Given the description of an element on the screen output the (x, y) to click on. 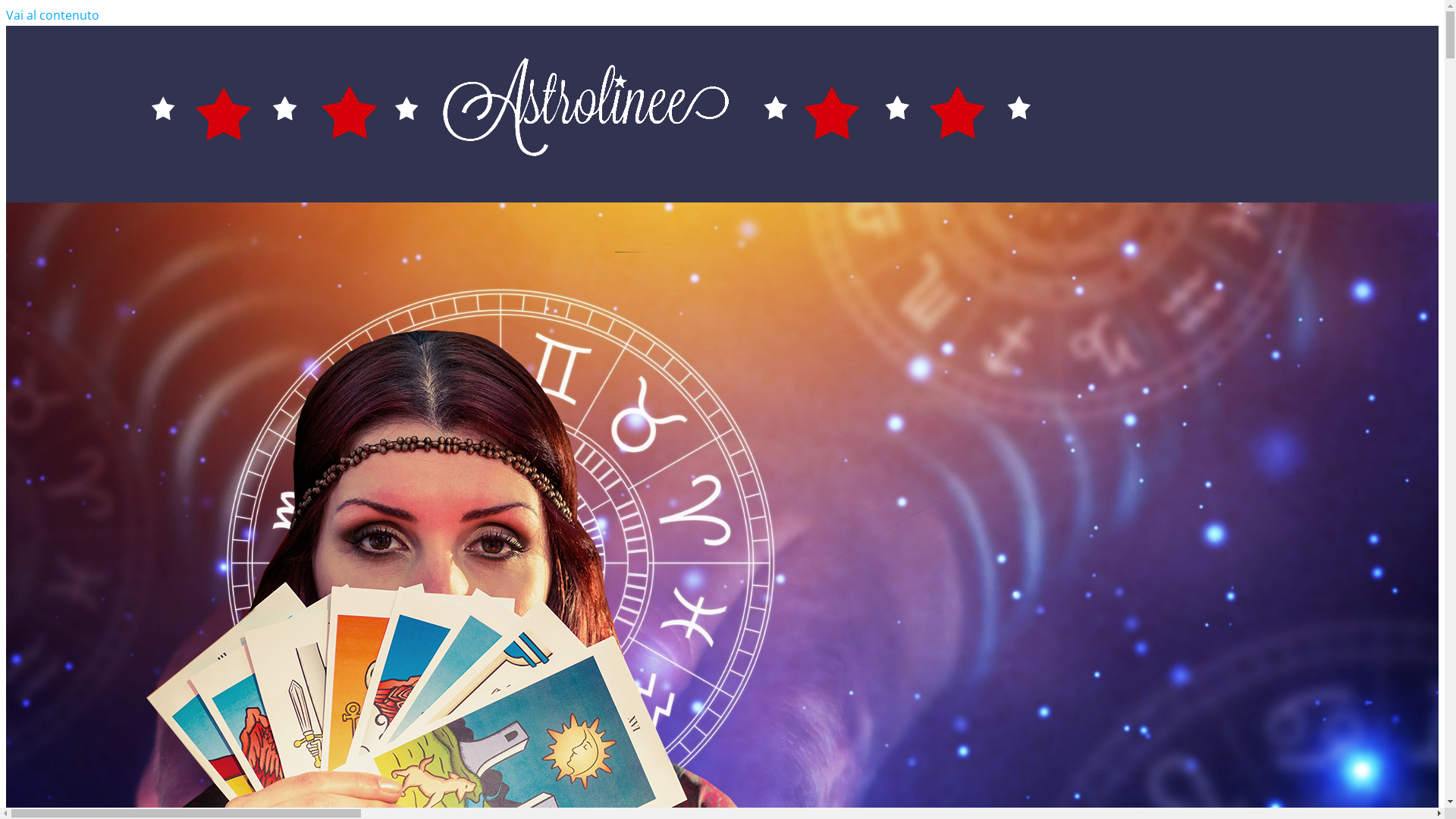
Vai al contenuto Element type: text (52, 14)
